Given the description of an element on the screen output the (x, y) to click on. 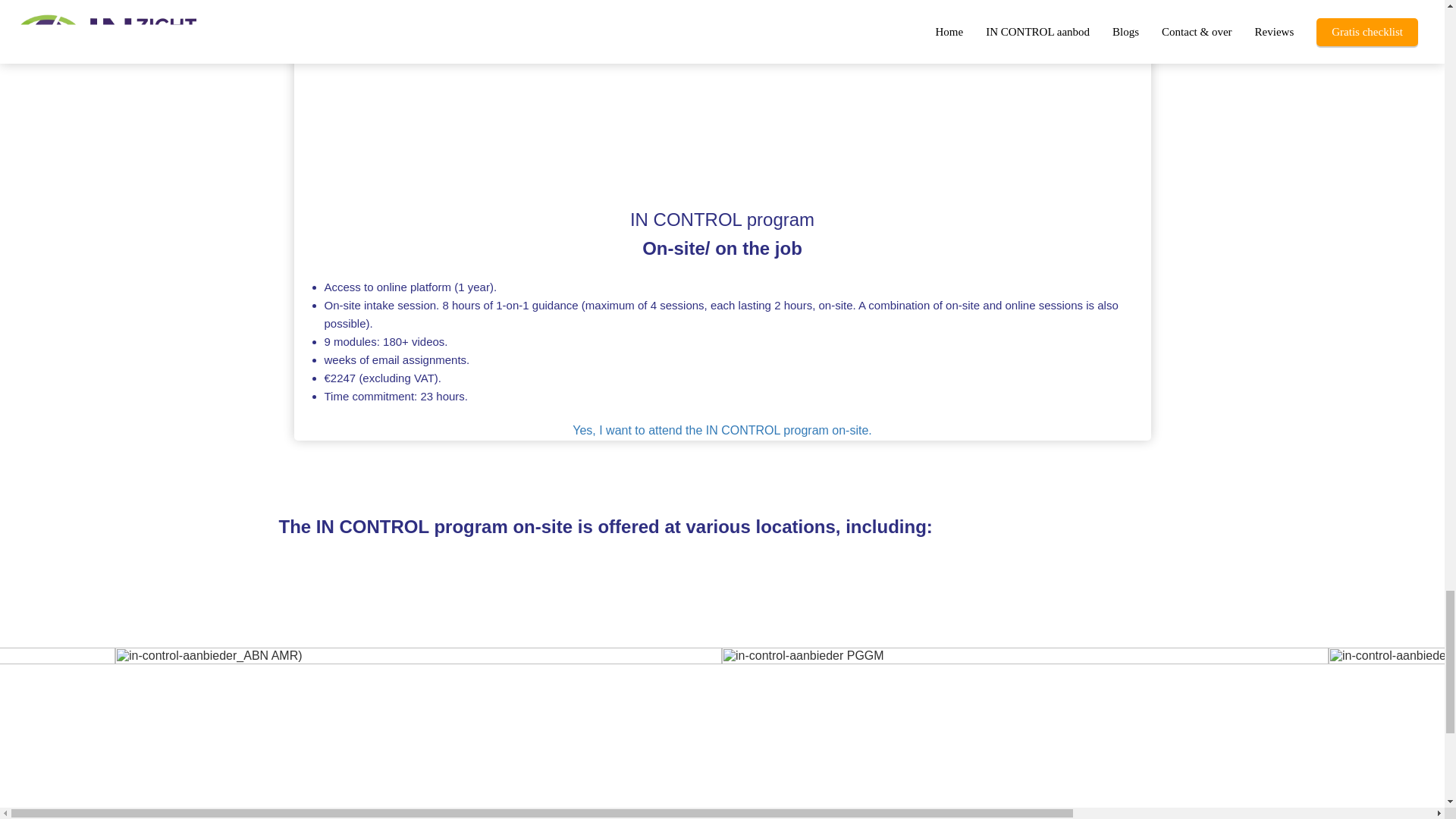
in-control-aanbieder PGGM (1024, 733)
Yes, I want to attend the IN CONTROL program on-site. (722, 430)
IN CONTROL programma op locatie (721, 102)
IN CONTROL program on the job (722, 430)
